Given the description of an element on the screen output the (x, y) to click on. 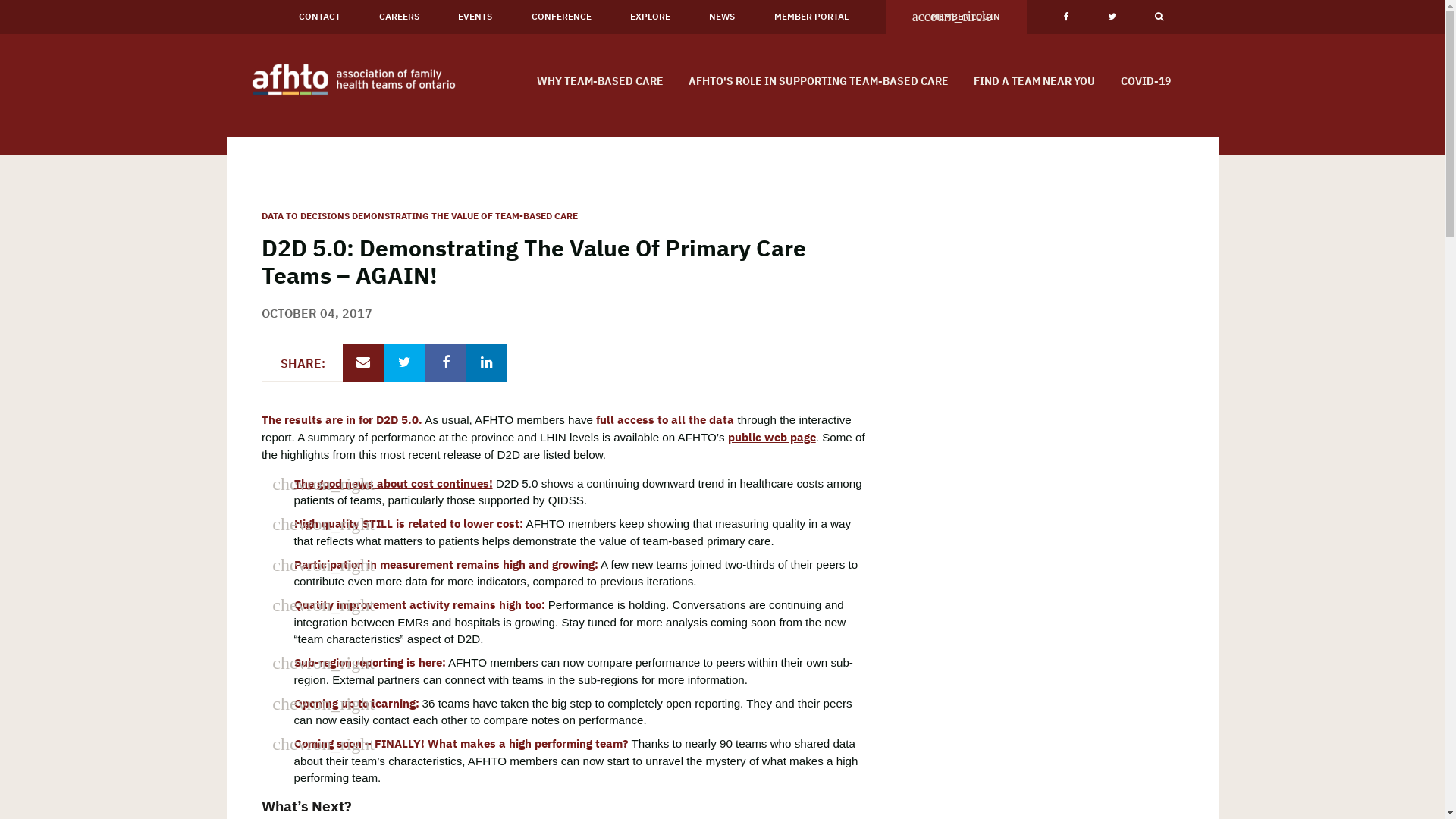
COVID-19 Element type: text (166, 172)
NEWS Element type: text (722, 17)
DEMONSTRATING THE VALUE OF TEAM-BASED CARE Element type: text (464, 215)
EVENTS Element type: text (475, 17)
Participation in measurement remains high and growing Element type: text (444, 563)
AFHTO'S ROLE IN SUPPORTING TEAM-BASED CARE Element type: text (817, 80)
MEMBER LOGIN Element type: text (955, 17)
Twitter Element type: hover (404, 362)
AFHTO's Role in Supporting Team-Based Care Element type: text (147, 95)
Find a Team Near You Element type: text (147, 133)
TWITTER Element type: text (1112, 17)
CAREERS Element type: text (399, 17)
DATA TO DECISIONS Element type: text (305, 215)
High quality STILL is related to lower cost Element type: text (406, 522)
Facebook Element type: hover (445, 362)
The good news about cost continues! Element type: text (393, 482)
Linkedin Element type: hover (486, 362)
FACEBOOK Element type: text (1066, 17)
public web page Element type: text (771, 436)
COVID-19 Element type: text (1145, 80)
Skip to main content Element type: text (0, 0)
MEMBER PORTAL Element type: text (810, 17)
FIND A TEAM NEAR YOU Element type: text (1034, 80)
EXPLORE Element type: text (650, 17)
Why team-based care Element type: text (147, 56)
full access to all the data Element type: text (665, 418)
WHY TEAM-BASED CARE Element type: text (599, 80)
Email Element type: hover (362, 362)
CONFERENCE Element type: text (561, 17)
SEARCH Element type: text (1159, 17)
CONTACT Element type: text (319, 17)
Menu Element type: text (166, 18)
